Given the description of an element on the screen output the (x, y) to click on. 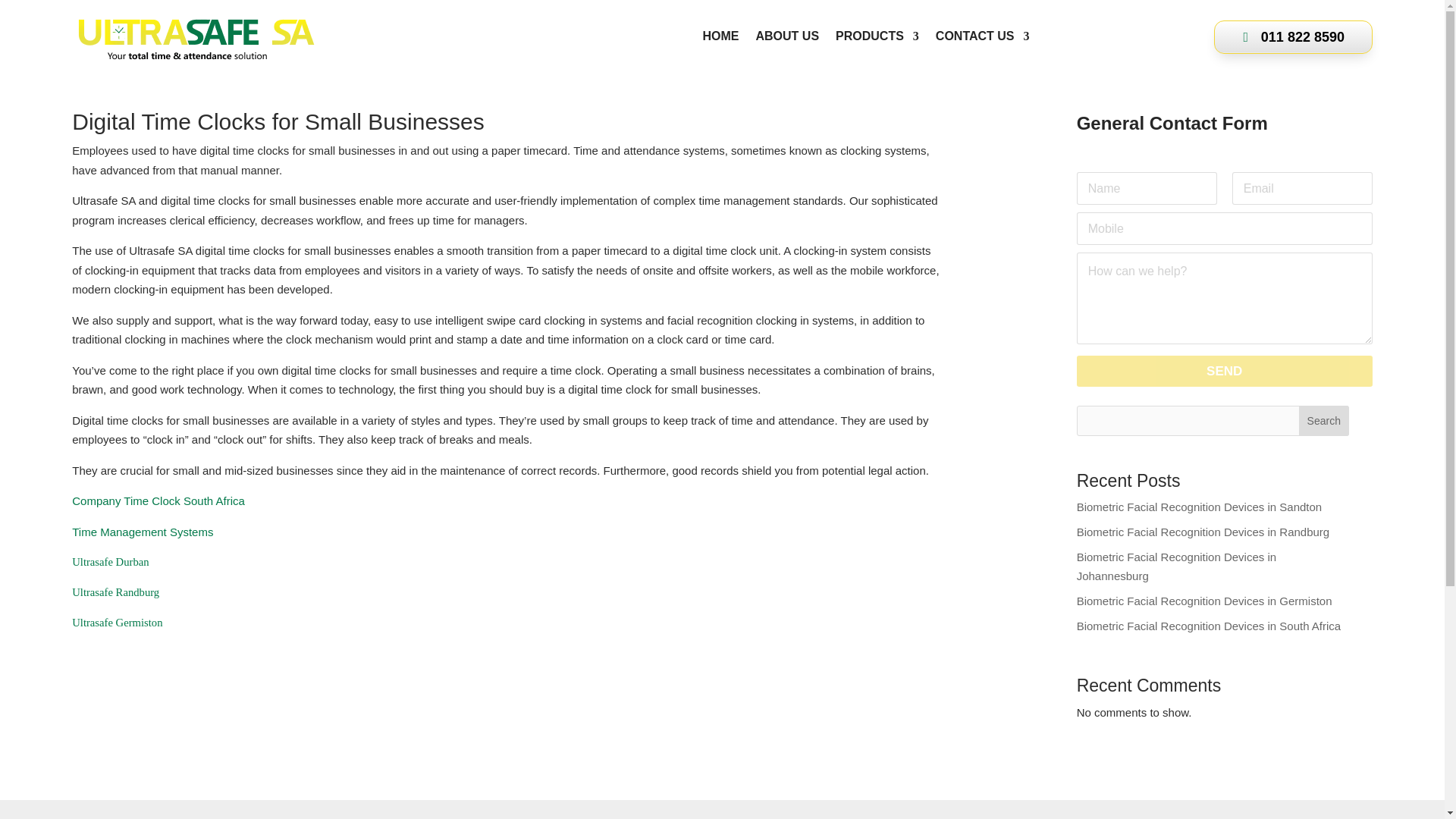
Time Management Systems  (143, 531)
ABOUT US (786, 36)
CONTACT US (982, 36)
Search (1323, 420)
Biometric Facial Recognition Devices in Johannesburg (1176, 566)
Biometric Facial Recognition Devices in Sandton (1199, 506)
Ultrasafe Durban (109, 562)
Biometric Facial Recognition Devices in Randburg (1203, 531)
011 822 8590 (1293, 36)
SEND (1225, 370)
